Given the description of an element on the screen output the (x, y) to click on. 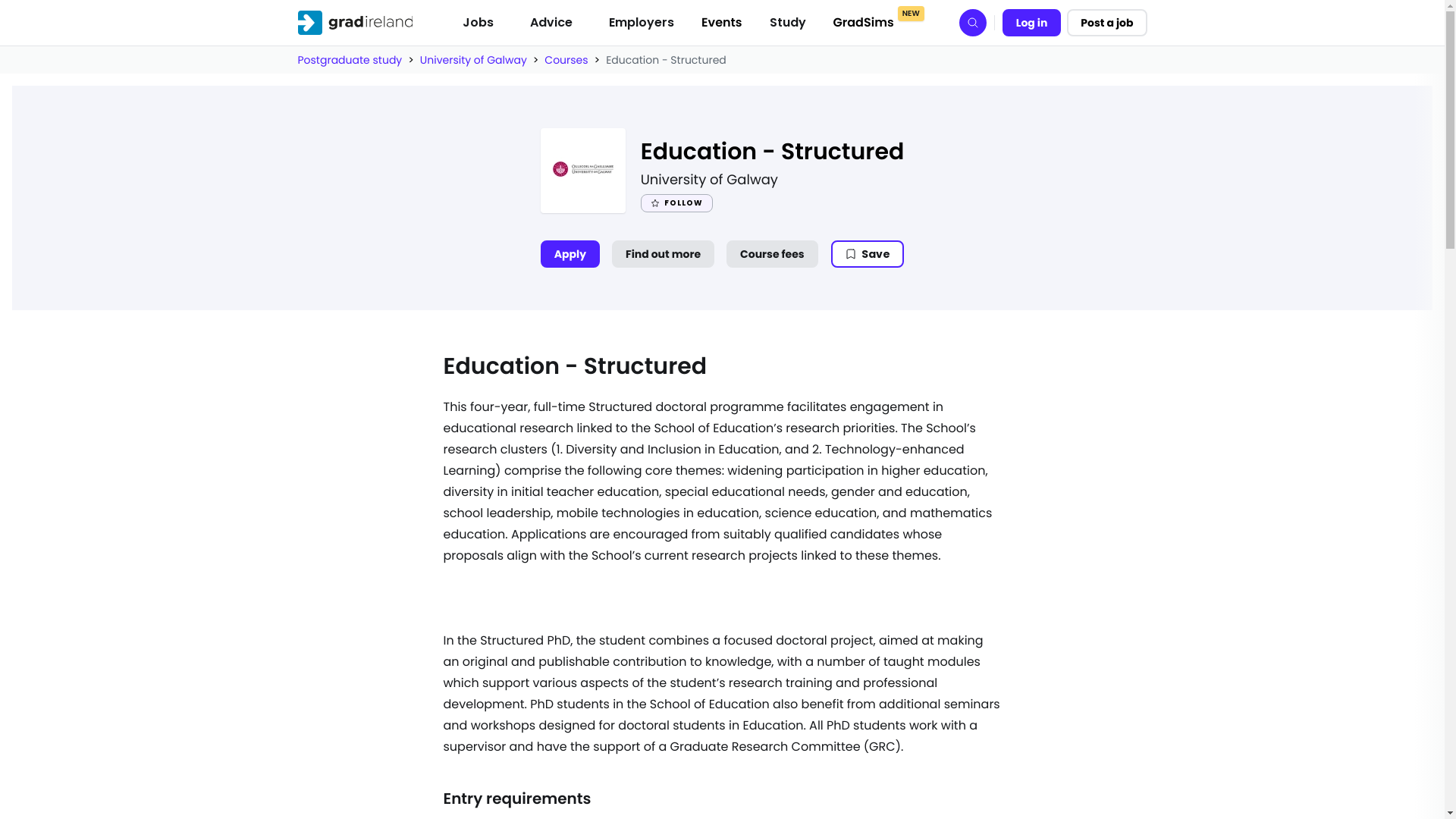
Advice (550, 22)
Jobs (477, 22)
